Given the description of an element on the screen output the (x, y) to click on. 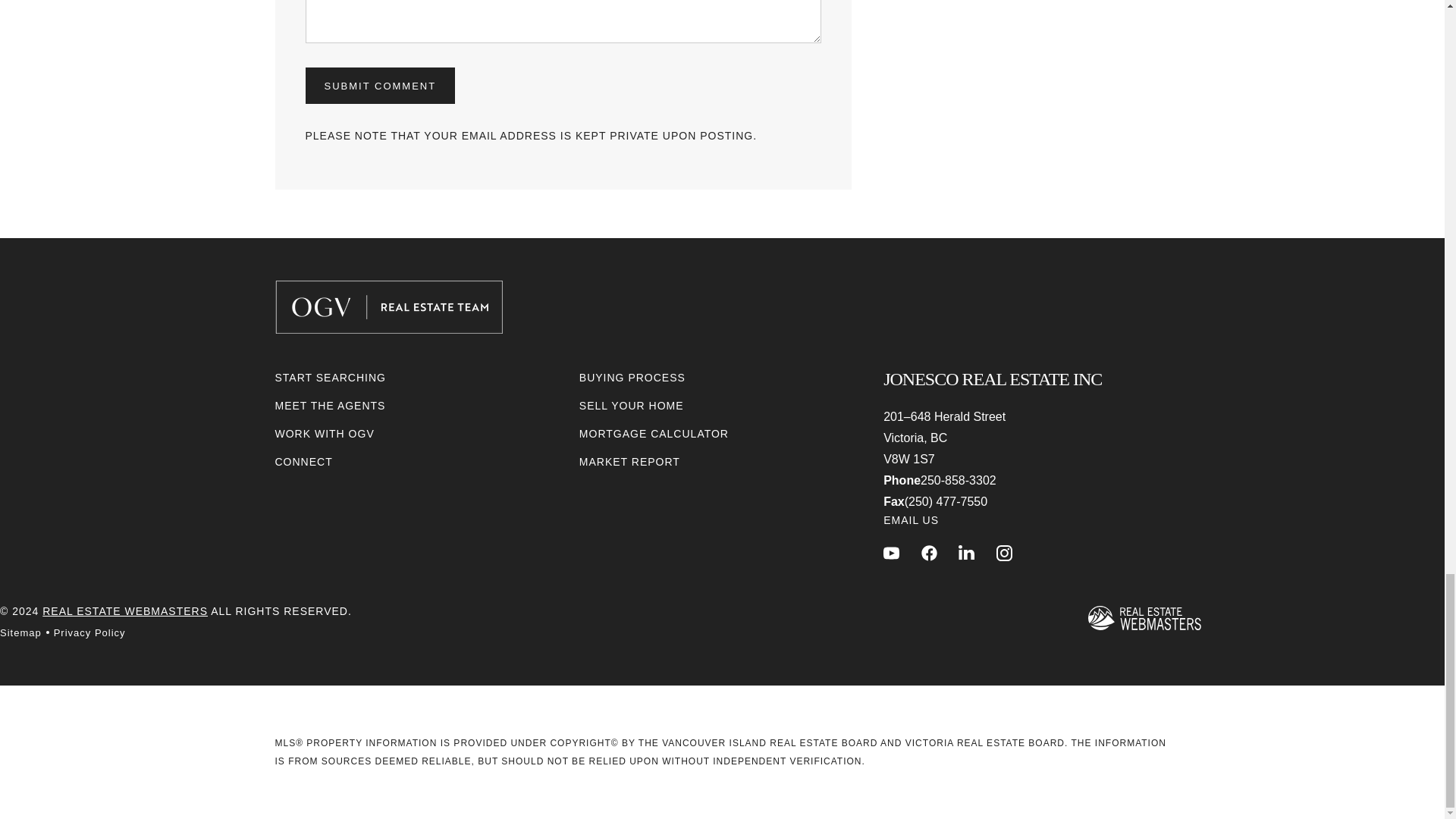
SUBMIT COMMENT (379, 85)
